Given the description of an element on the screen output the (x, y) to click on. 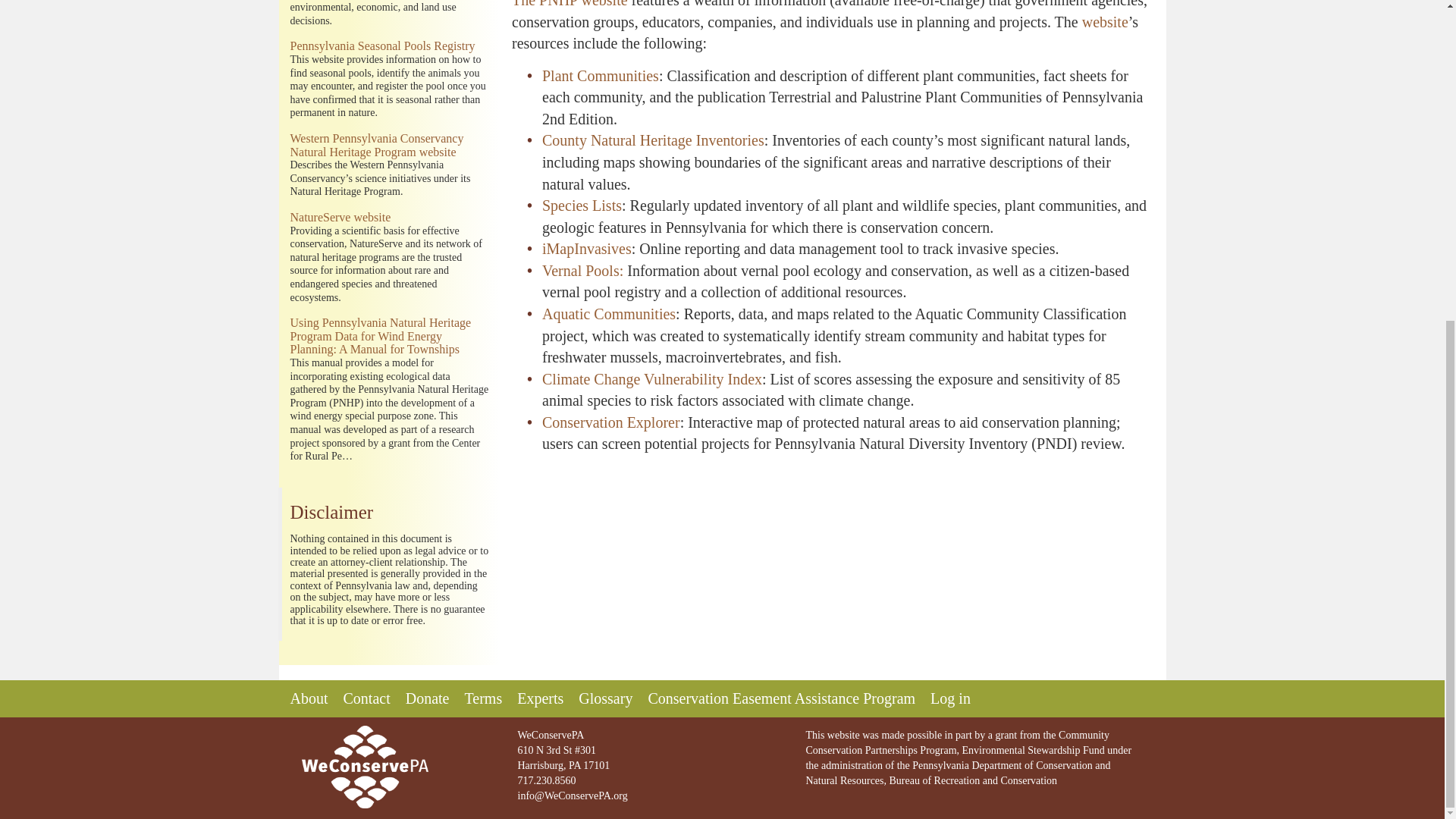
About (308, 698)
Contact (366, 698)
Aquatic Communities (608, 313)
NatureServe website (339, 216)
Vernal Pools: (582, 270)
Conservation Explorer (610, 422)
Species Lists (581, 205)
Donate (427, 698)
website (1104, 21)
Climate Change Vulnerability Index (651, 379)
County Natural Heritage Inventories (652, 139)
The PNHP website (569, 4)
Pennsylvania Seasonal Pools Registry (381, 45)
iMapInvasives (586, 248)
